Given the description of an element on the screen output the (x, y) to click on. 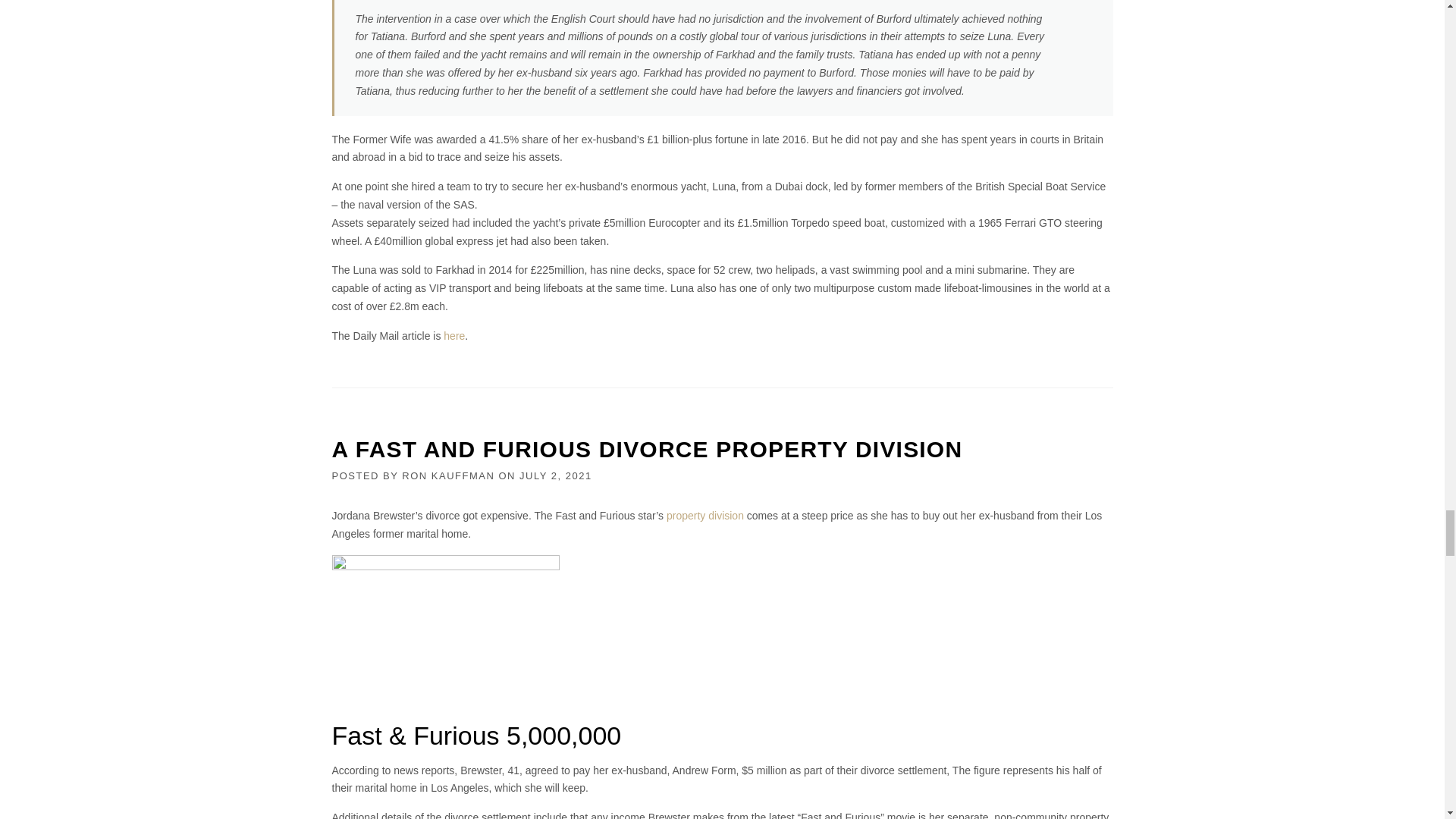
Fast and Furious (445, 630)
